Given the description of an element on the screen output the (x, y) to click on. 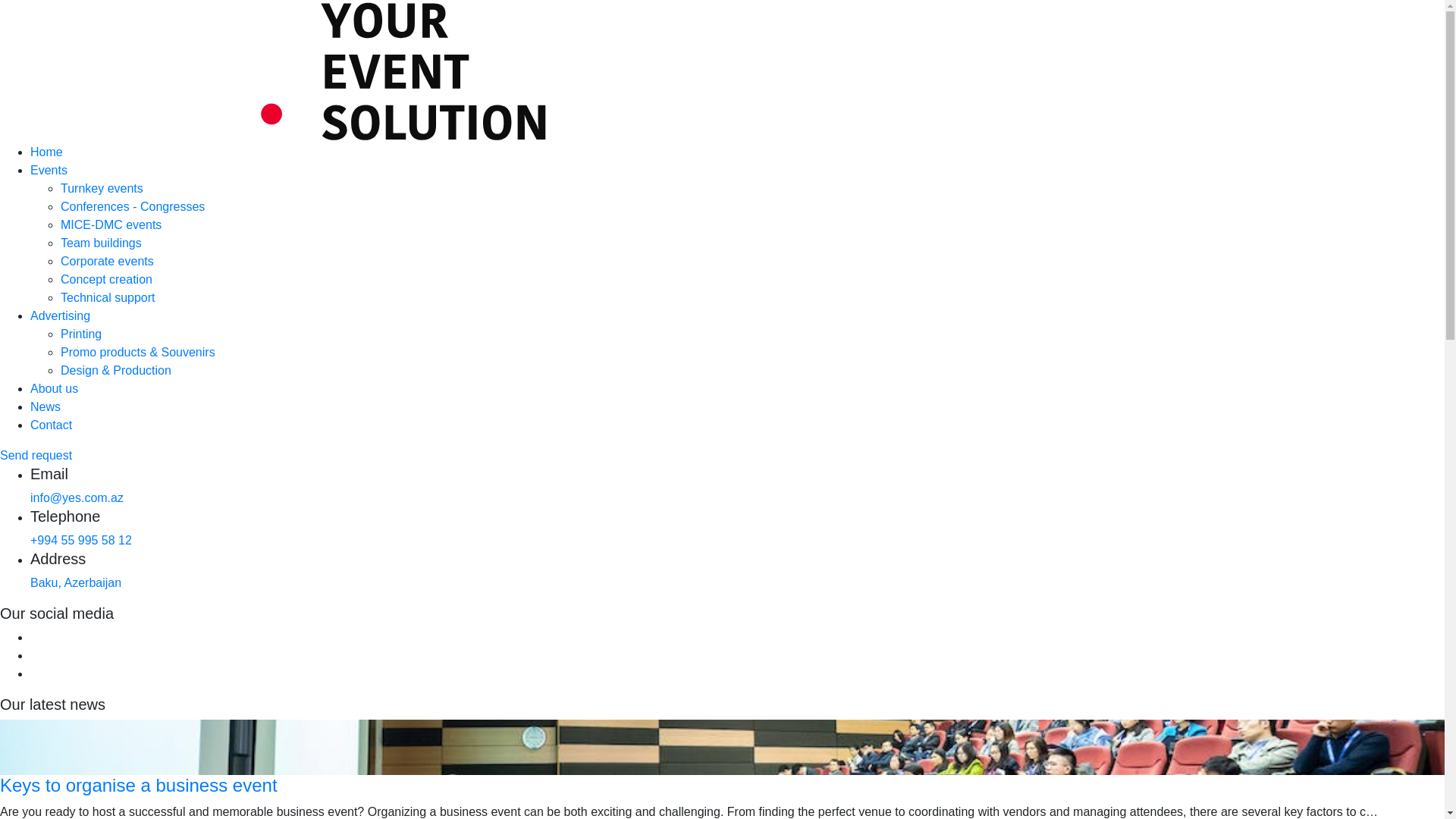
Home Element type: text (46, 151)
Send request Element type: text (36, 454)
Promo products & Souvenirs Element type: text (137, 351)
Concept creation Element type: text (106, 279)
Corporate events Element type: text (106, 260)
Turnkey events Element type: text (101, 188)
Advertising Element type: text (60, 315)
News Element type: text (45, 406)
Baku, Azerbaijan Element type: text (75, 582)
Design & Production Element type: text (115, 370)
Keys to organise a business event Element type: text (138, 785)
+994 55 995 58 12 Element type: text (80, 539)
MICE-DMC events Element type: text (110, 224)
Events Element type: text (48, 169)
Printing Element type: text (80, 333)
Contact Element type: text (51, 424)
Technical support Element type: text (107, 297)
info@yes.com.az Element type: text (76, 497)
About us Element type: text (54, 388)
Conferences - Congresses Element type: text (132, 206)
Team buildings Element type: text (100, 242)
